Given the description of an element on the screen output the (x, y) to click on. 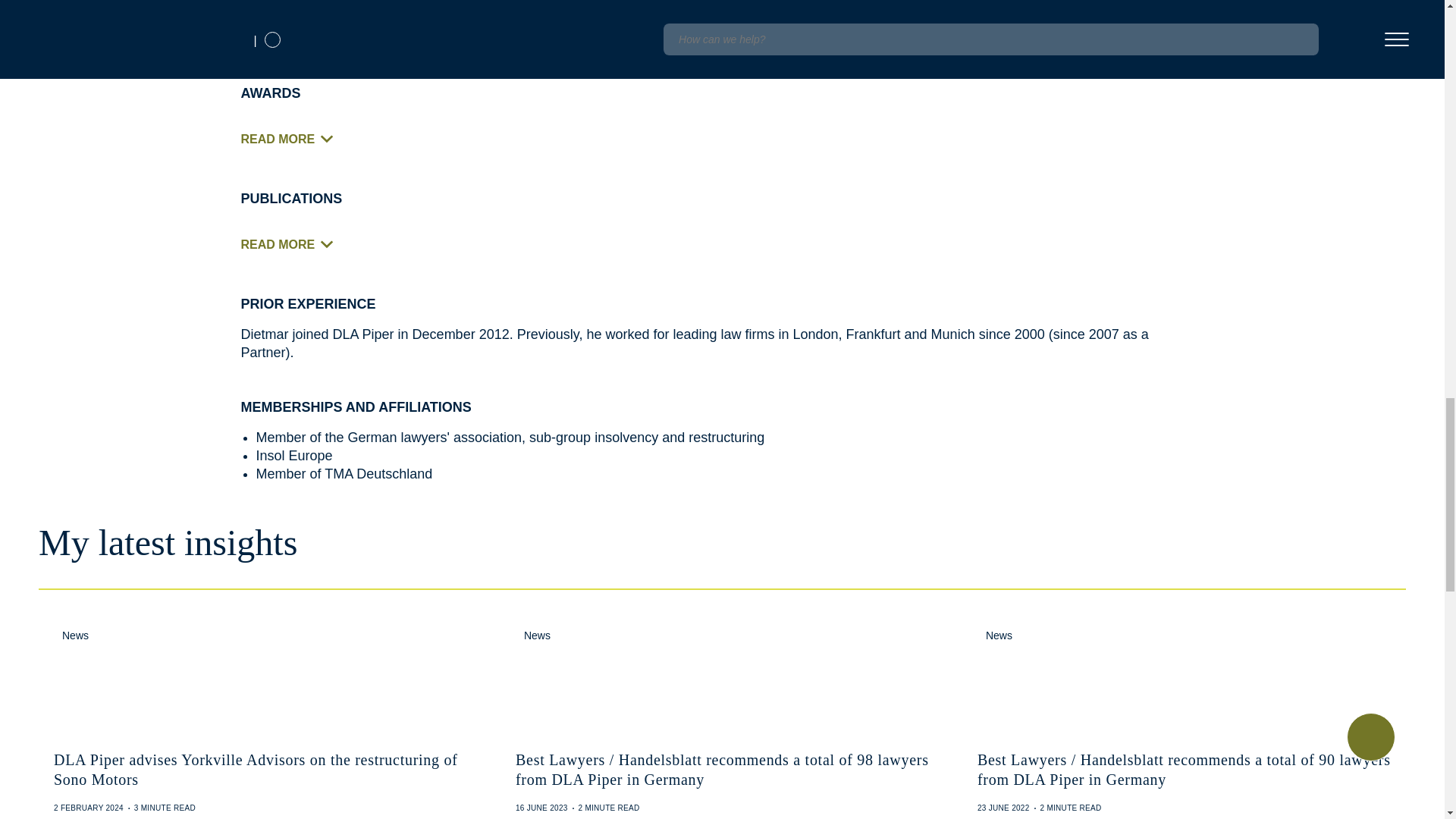
READ MORE (292, 245)
READ MORE (292, 140)
